Given the description of an element on the screen output the (x, y) to click on. 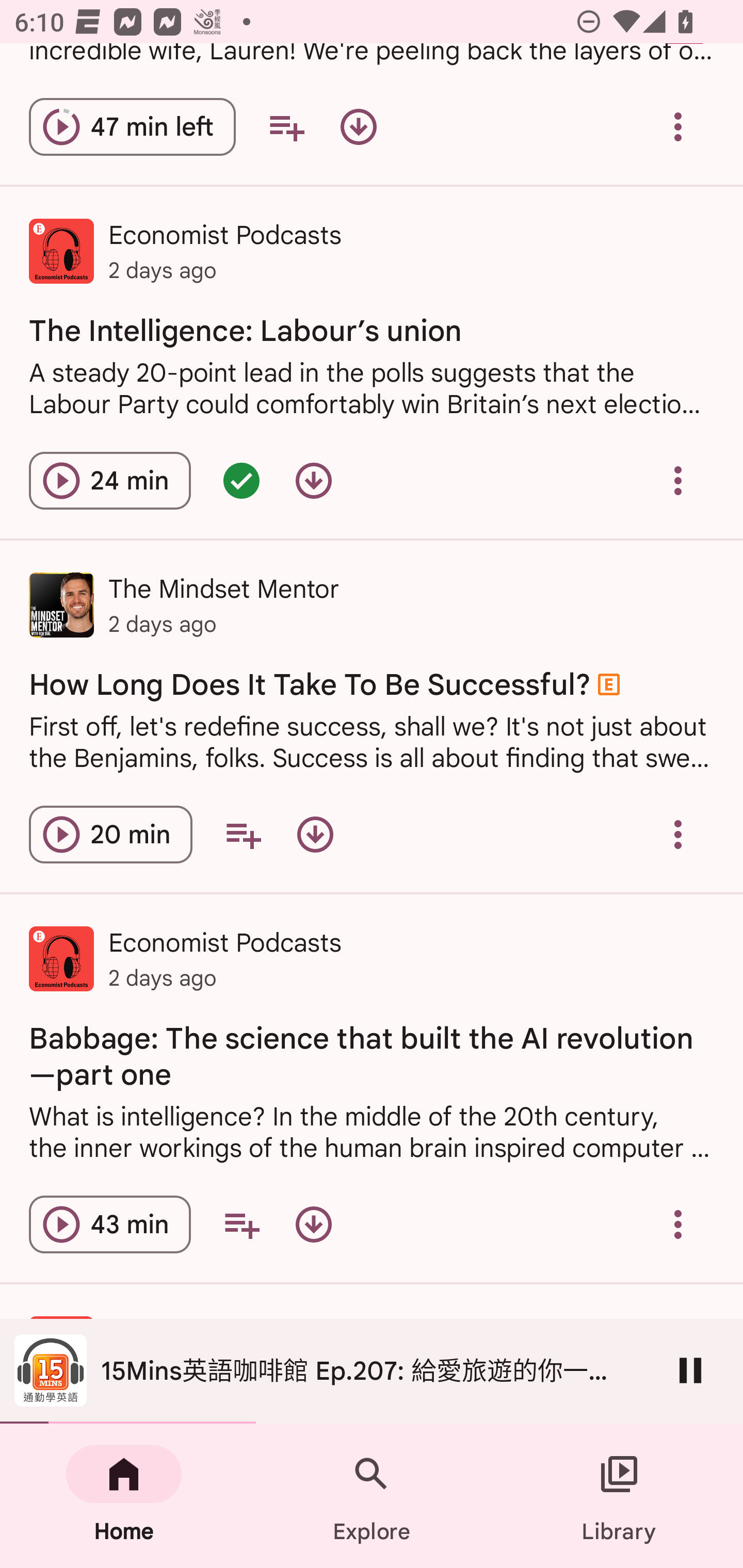
Play episode Meet My Wife 47 min left (131, 126)
Add to your queue (286, 126)
Download episode (358, 126)
Overflow menu (677, 126)
Episode queued - double tap for options (241, 480)
Download episode (313, 480)
Overflow menu (677, 480)
Add to your queue (242, 834)
Download episode (315, 834)
Overflow menu (677, 834)
Add to your queue (241, 1224)
Download episode (313, 1224)
Overflow menu (677, 1224)
Pause (690, 1370)
Explore (371, 1495)
Library (619, 1495)
